Given the description of an element on the screen output the (x, y) to click on. 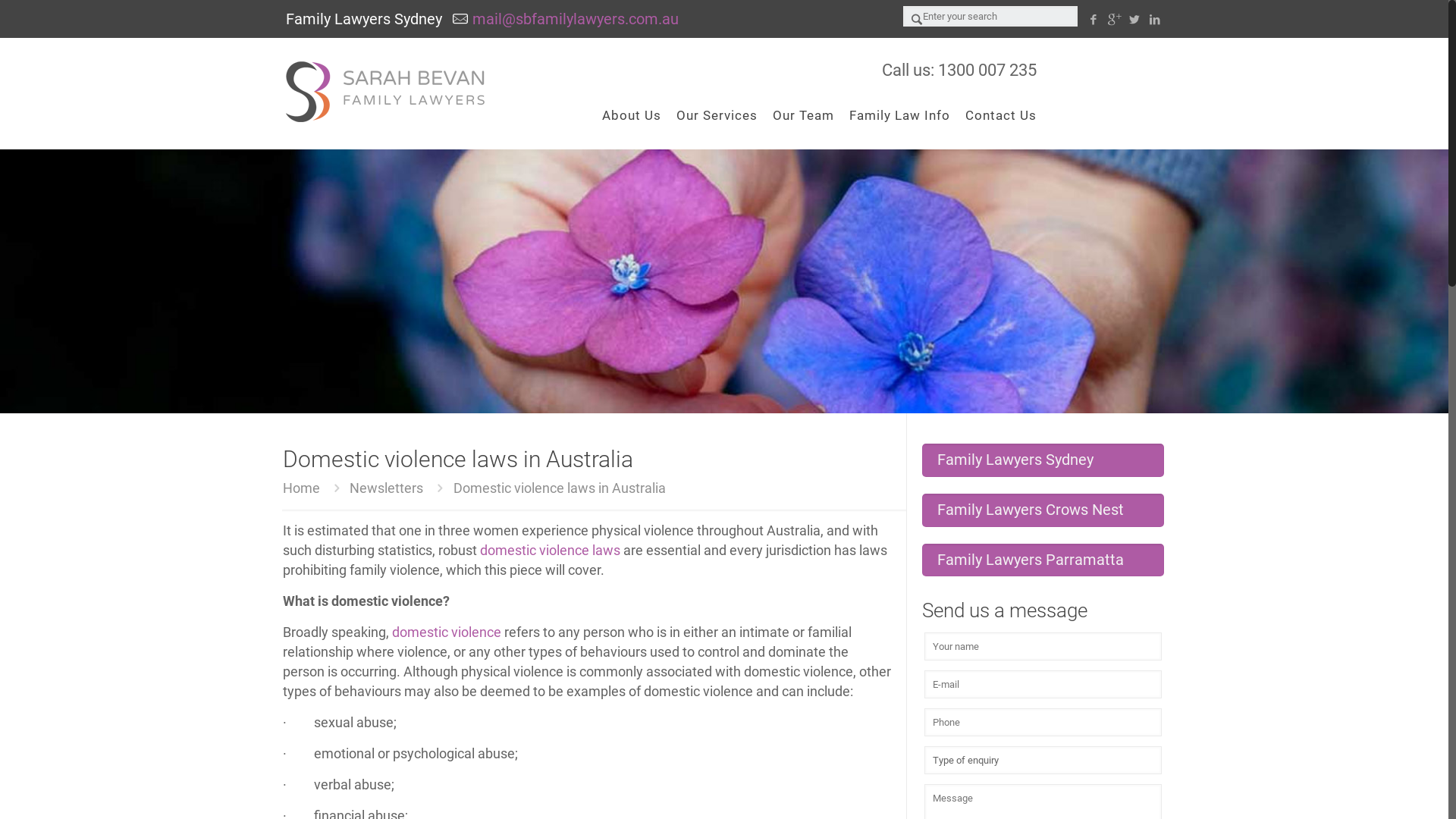
Facebook Element type: hover (1093, 19)
domestic violence Element type: text (446, 632)
About Us Element type: text (631, 115)
Twitter Element type: hover (1134, 19)
Family Lawyers Sydney Element type: text (1043, 459)
Family Lawyers Crows Nest Element type: text (1043, 510)
Google+ Element type: hover (1113, 19)
Family Lawyers Sydney Element type: hover (386, 90)
Our Team Element type: text (803, 115)
Contact Us Element type: text (1000, 115)
LinkedIn Element type: hover (1154, 19)
Family Law Info Element type: text (899, 115)
Newsletters Element type: text (386, 487)
Our Services Element type: text (716, 115)
Home Element type: text (301, 487)
Family Lawyers Parramatta Element type: text (1043, 560)
domestic violence laws Element type: text (550, 550)
Call us: 1300 007 235 Element type: text (958, 69)
mail@sbfamilylawyers.com.au Element type: text (575, 18)
Domestic violence laws in Australia Element type: text (559, 487)
